Given the description of an element on the screen output the (x, y) to click on. 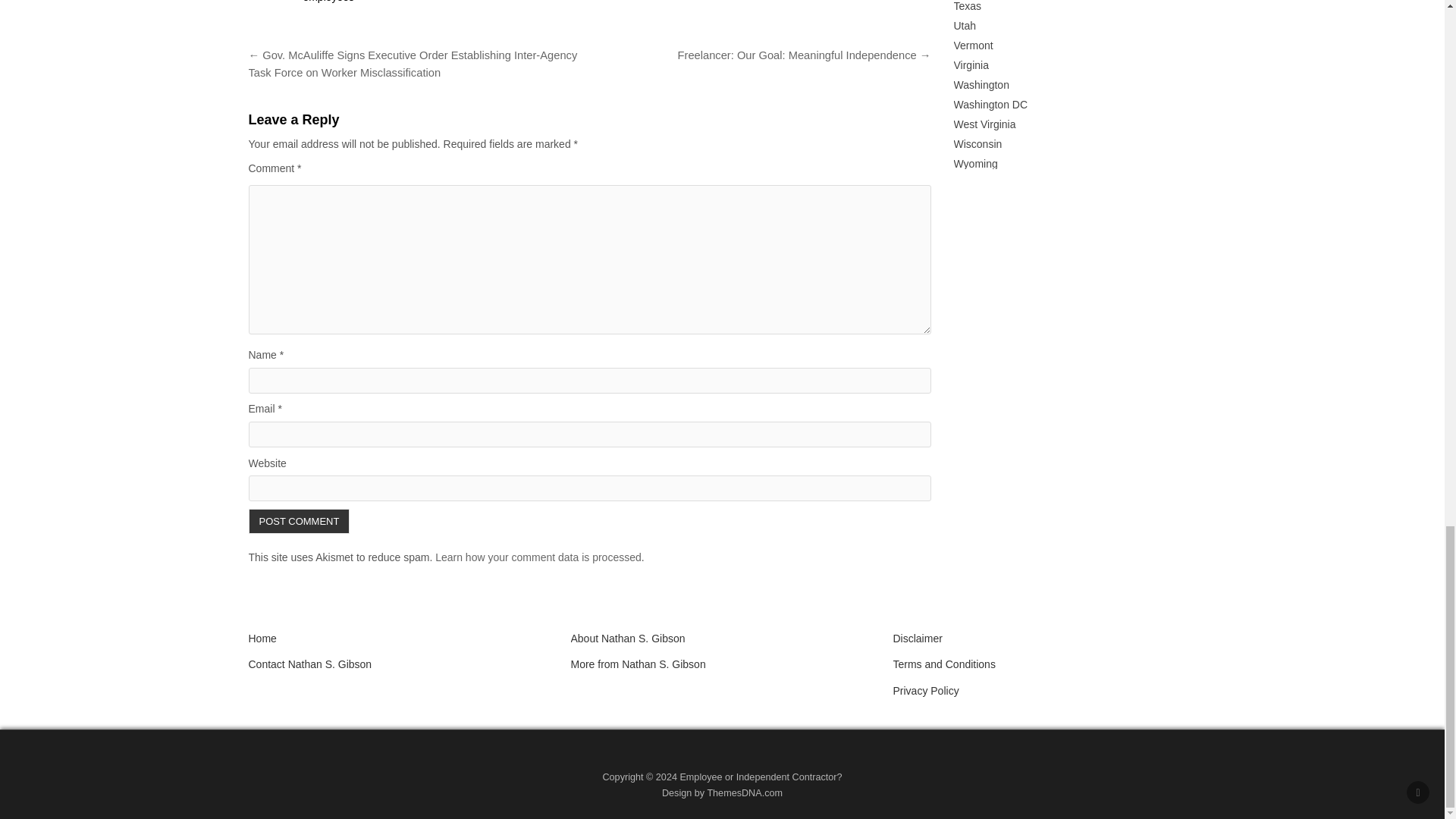
Learn how your comment data is processed (538, 557)
Post Comment (299, 520)
Post Comment (299, 520)
